Given the description of an element on the screen output the (x, y) to click on. 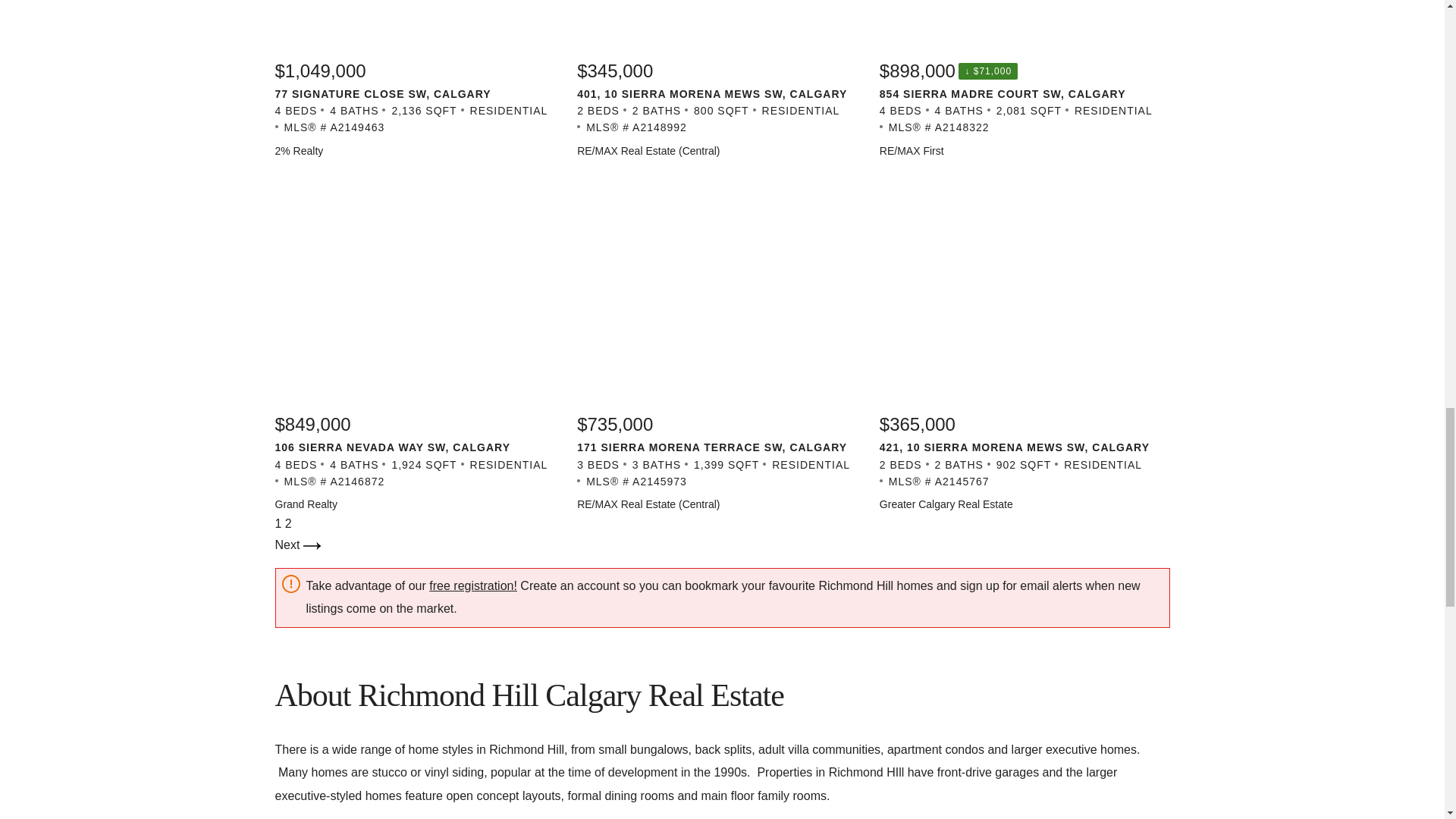
Current Page is 1 (279, 522)
Next Page (297, 544)
Current Page is 2 (288, 522)
